Given the description of an element on the screen output the (x, y) to click on. 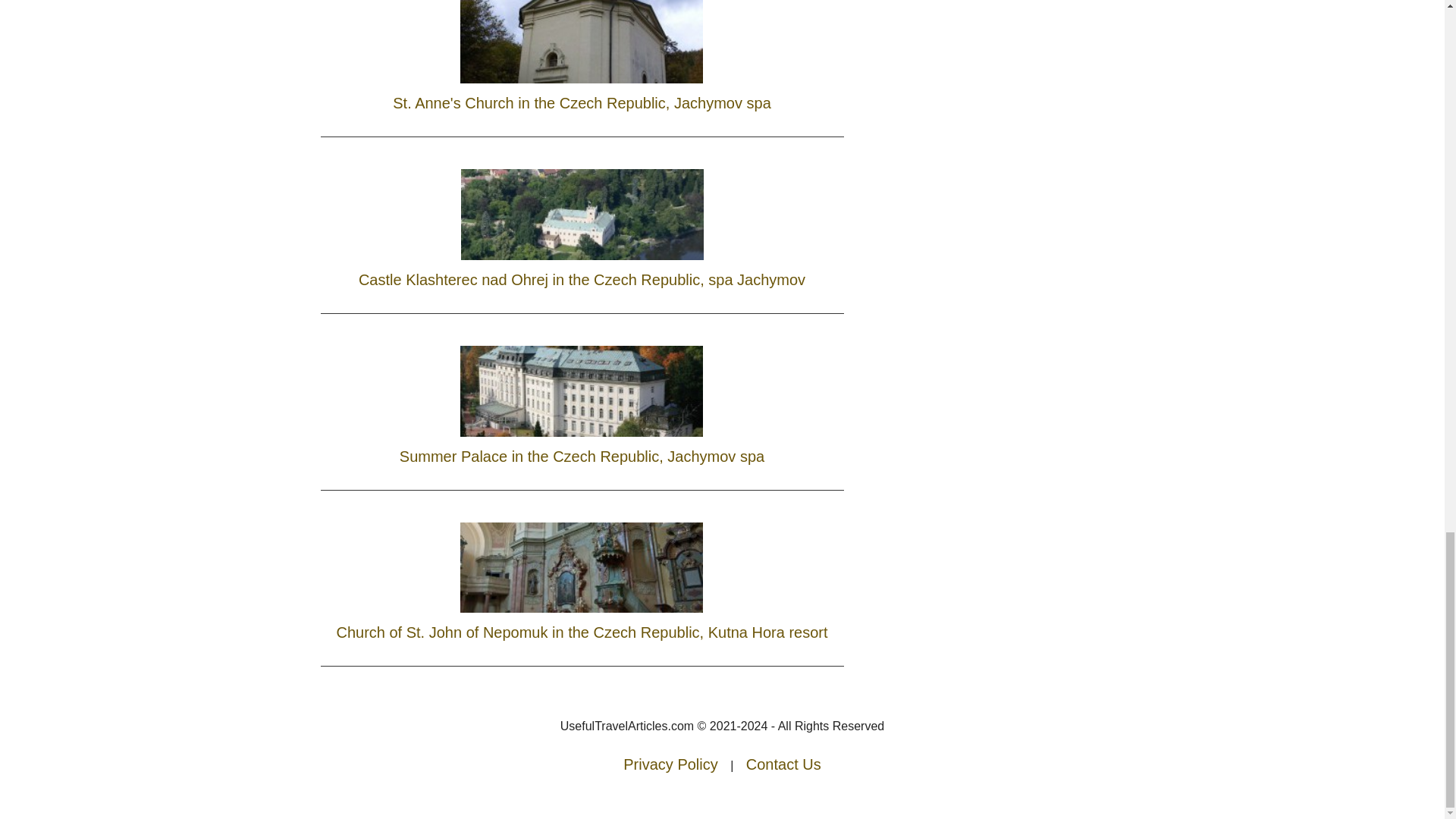
Summer Palace in the Czech Republic, Jachymov spa (581, 401)
St. Anne's Church in the Czech Republic, Jachymov spa (582, 60)
